Given the description of an element on the screen output the (x, y) to click on. 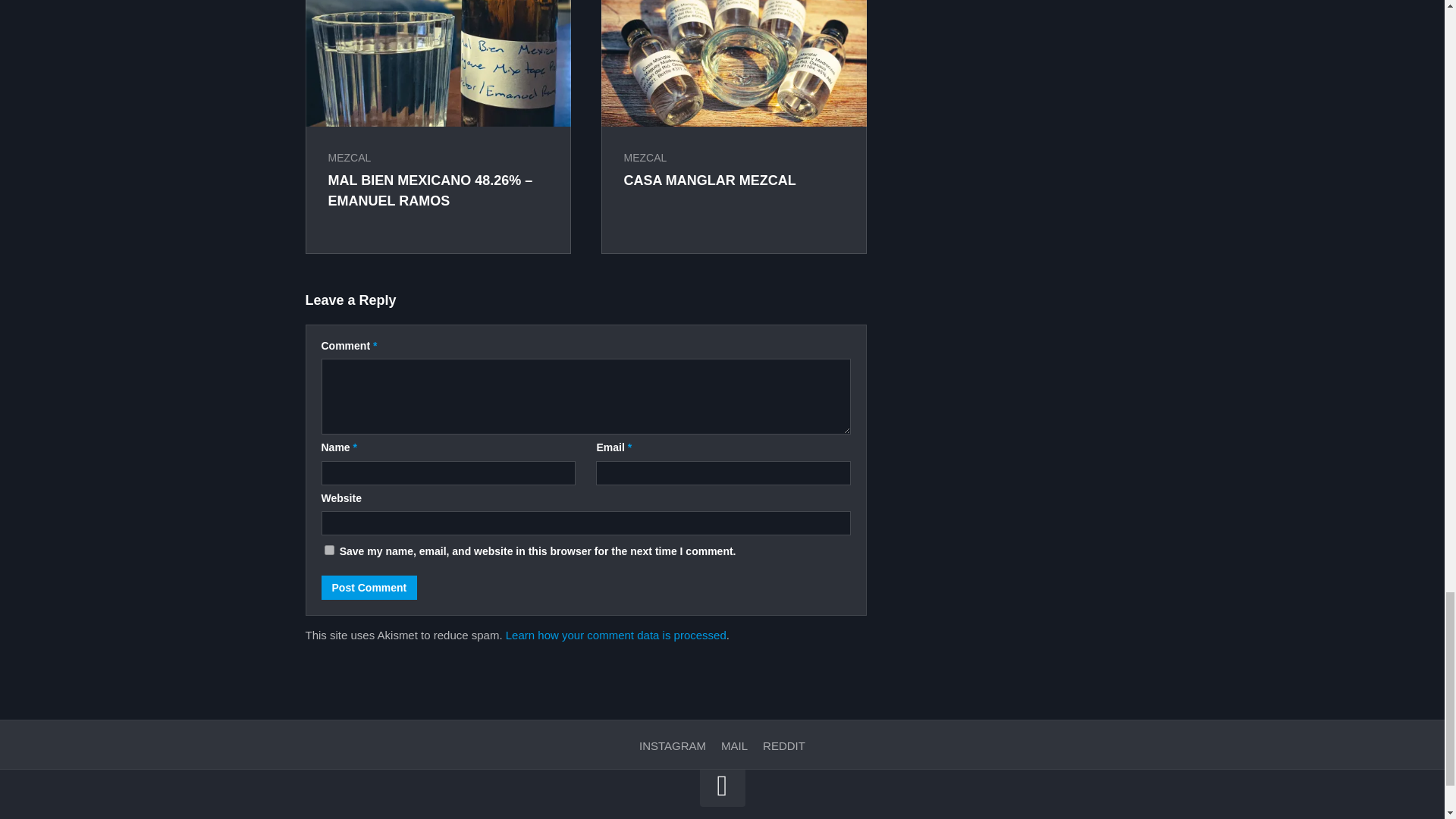
INSTAGRAM (672, 745)
CASA MANGLAR MEZCAL (708, 180)
MAIL (734, 745)
yes (329, 550)
MEZCAL (644, 157)
REDDIT (783, 745)
MEZCAL (349, 157)
Learn how your comment data is processed (615, 634)
Post Comment (369, 587)
Post Comment (369, 587)
